Given the description of an element on the screen output the (x, y) to click on. 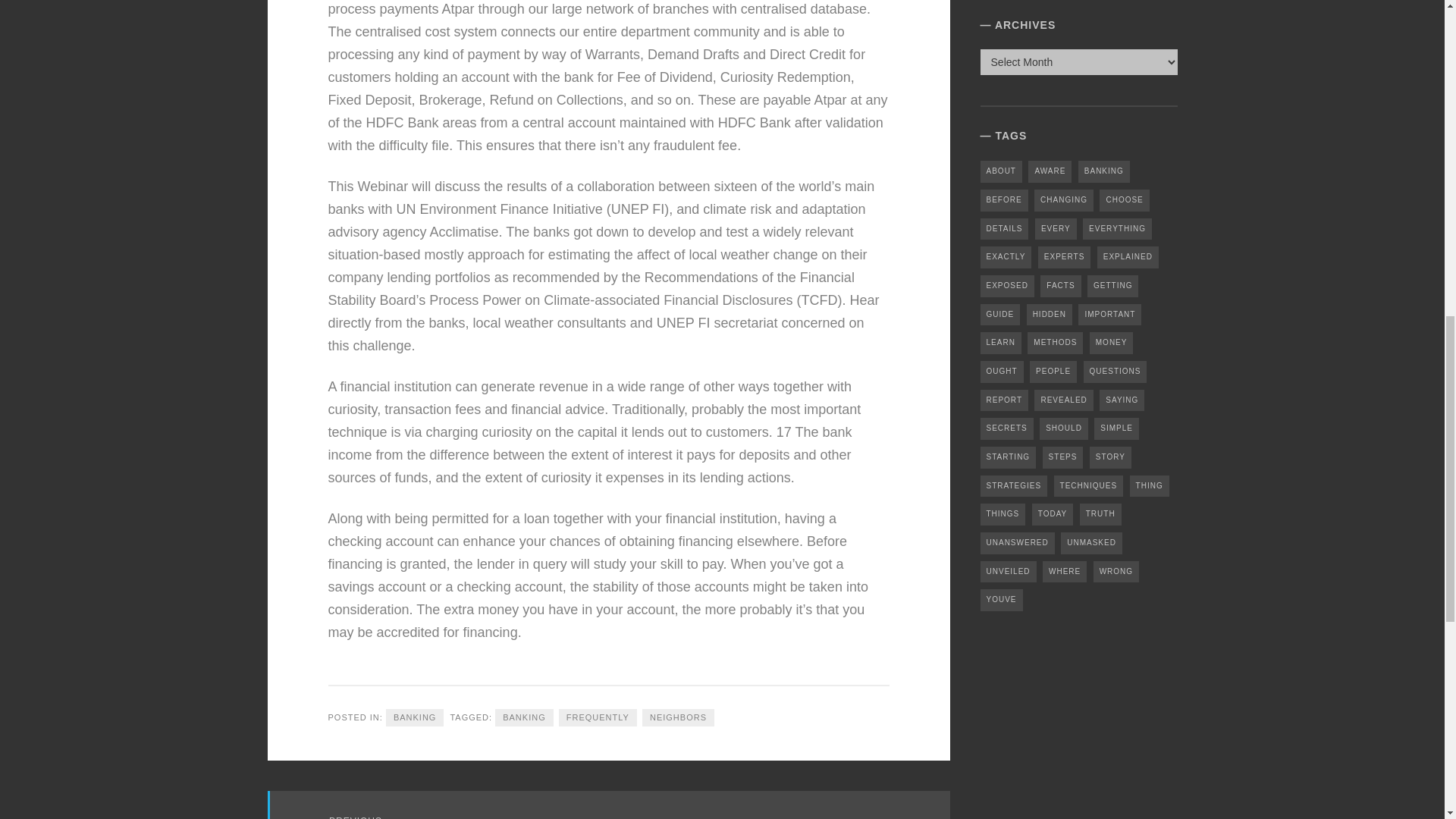
EXPOSED (1006, 286)
ABOUT (1000, 171)
BANKING (1103, 171)
FREQUENTLY (598, 717)
BANKING (414, 717)
CHOOSE (1123, 200)
FACTS (1060, 286)
DETAILS (1004, 229)
GETTING (1112, 286)
BANKING (524, 717)
NEIGHBORS (678, 717)
EXPERTS (1064, 257)
CHANGING (1063, 200)
AWARE (1049, 171)
EXACTLY (1005, 257)
